Given the description of an element on the screen output the (x, y) to click on. 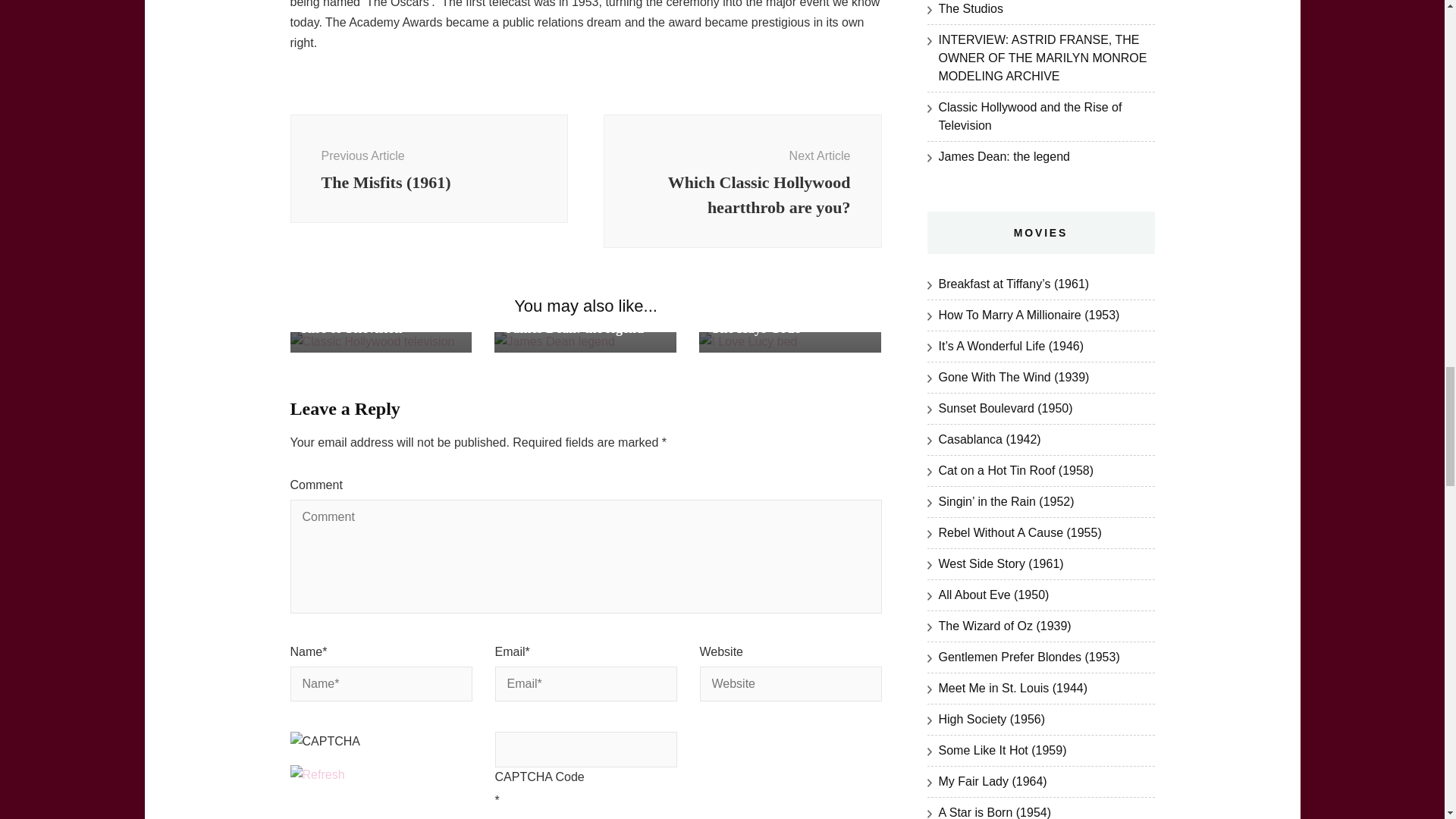
James Dean: the legend (574, 328)
Classic Hollywood and the Rise of Television (379, 318)
CAPTCHA (339, 748)
Refresh (316, 774)
